Given the description of an element on the screen output the (x, y) to click on. 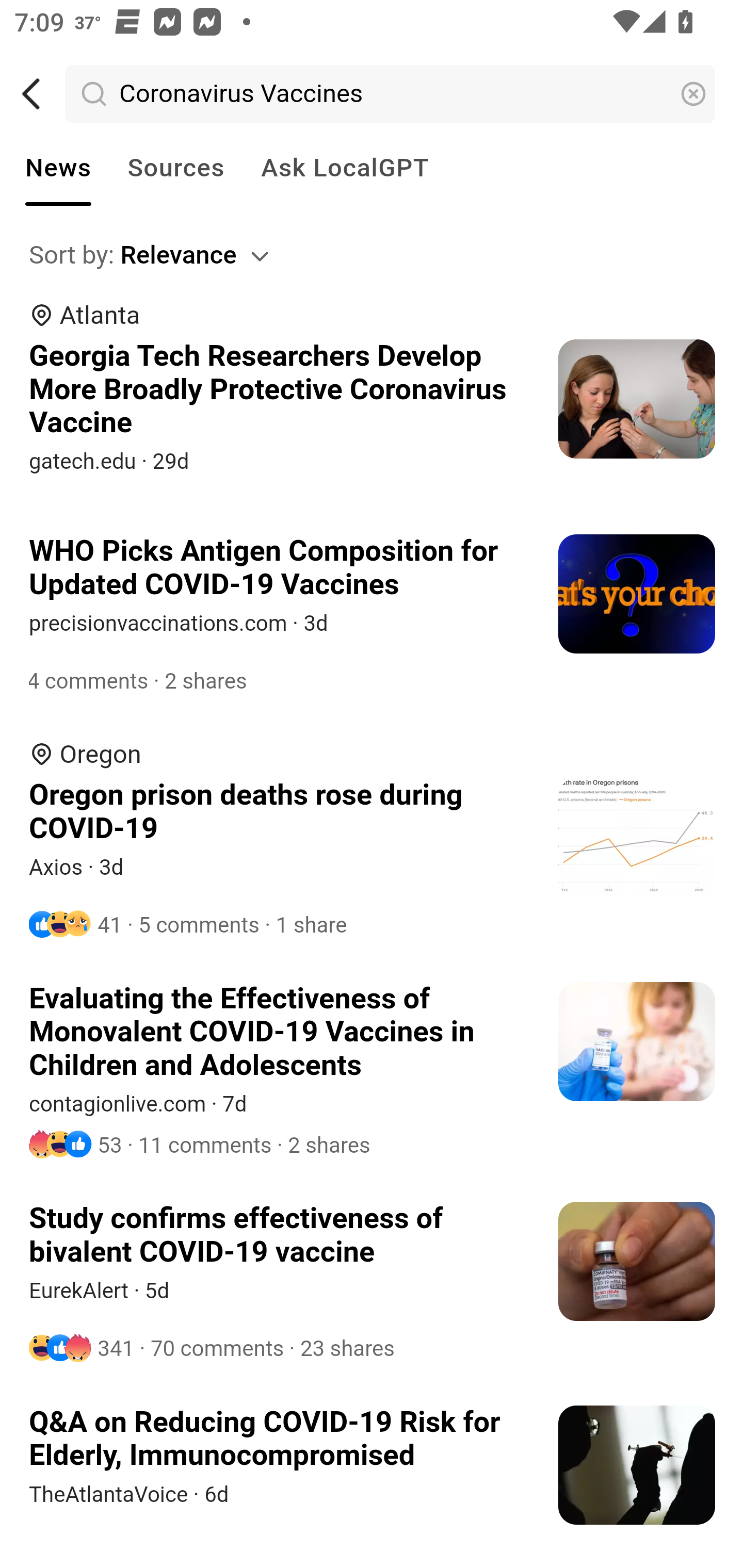
Coronavirus Vaccines (390, 93)
News (58, 168)
Sources (175, 168)
Ask LocalGPT (344, 168)
Sort by:  Relevance (372, 254)
